Given the description of an element on the screen output the (x, y) to click on. 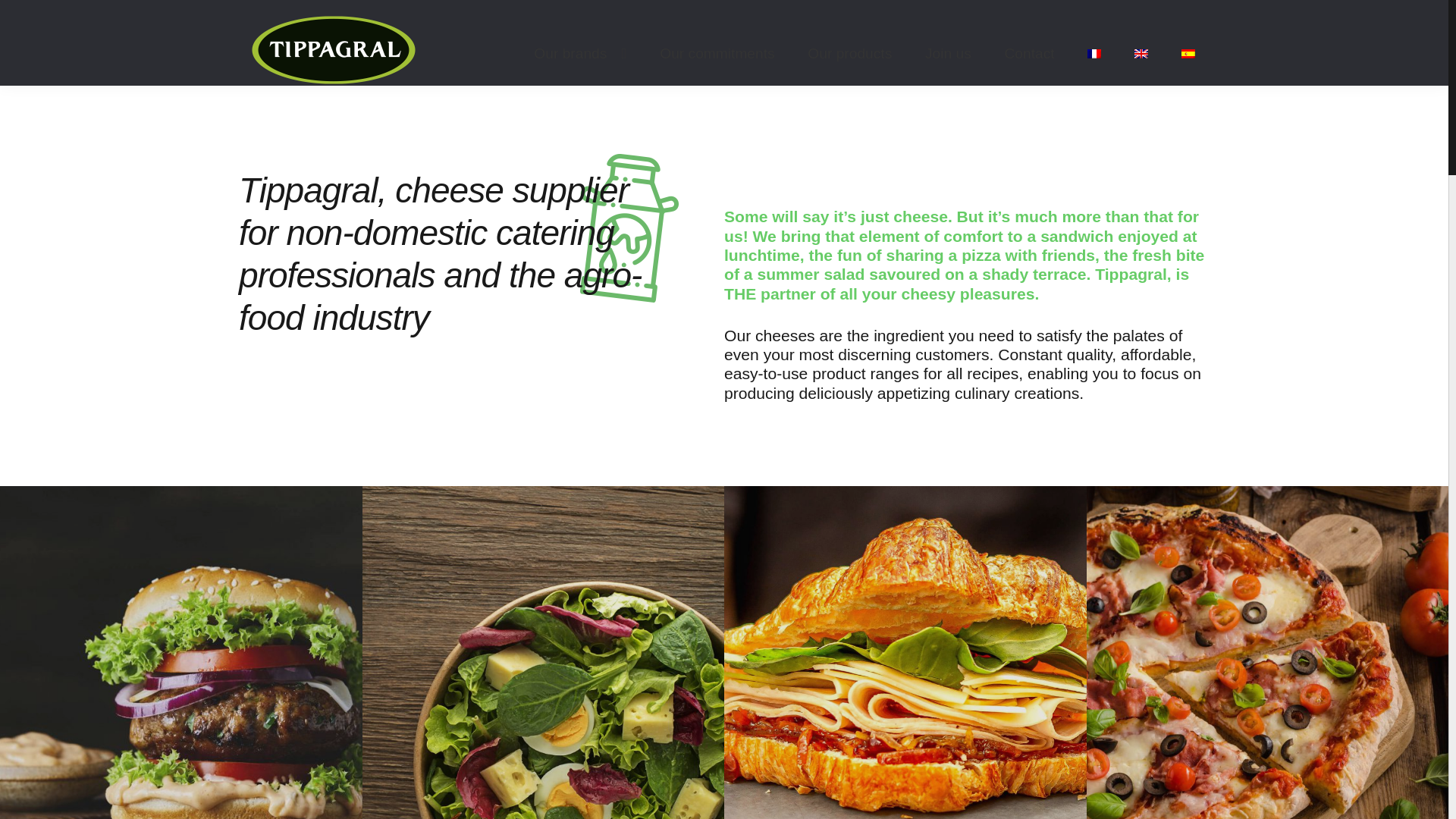
Join us (948, 53)
Our brands (580, 53)
Our commitments (717, 53)
Contact (1029, 53)
Our commitments (717, 53)
Contact (1029, 53)
Our products (849, 53)
Our brands (580, 53)
Join us (948, 53)
Our products (849, 53)
